Given the description of an element on the screen output the (x, y) to click on. 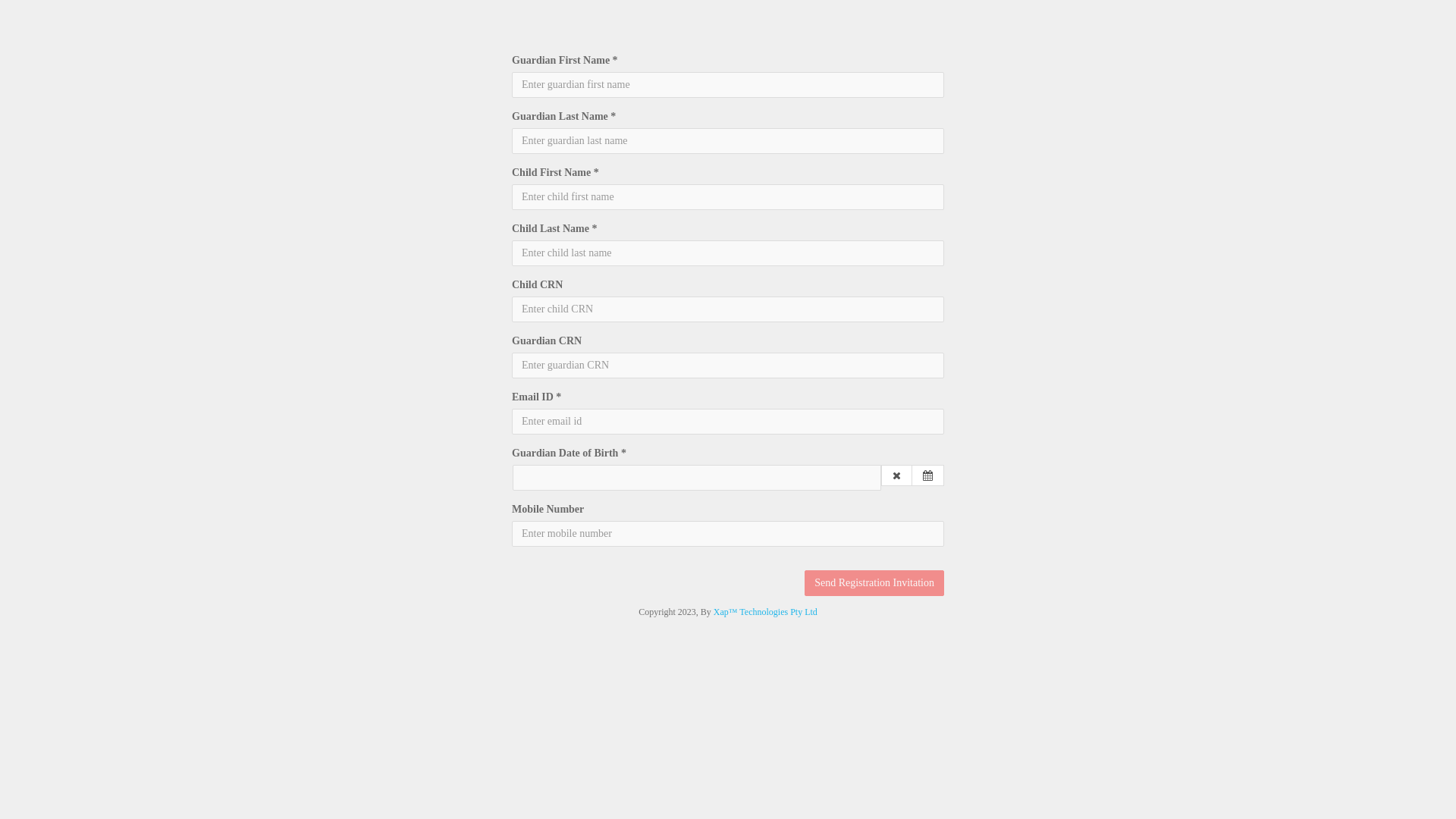
Send Registration Invitation Element type: text (874, 583)
